Given the description of an element on the screen output the (x, y) to click on. 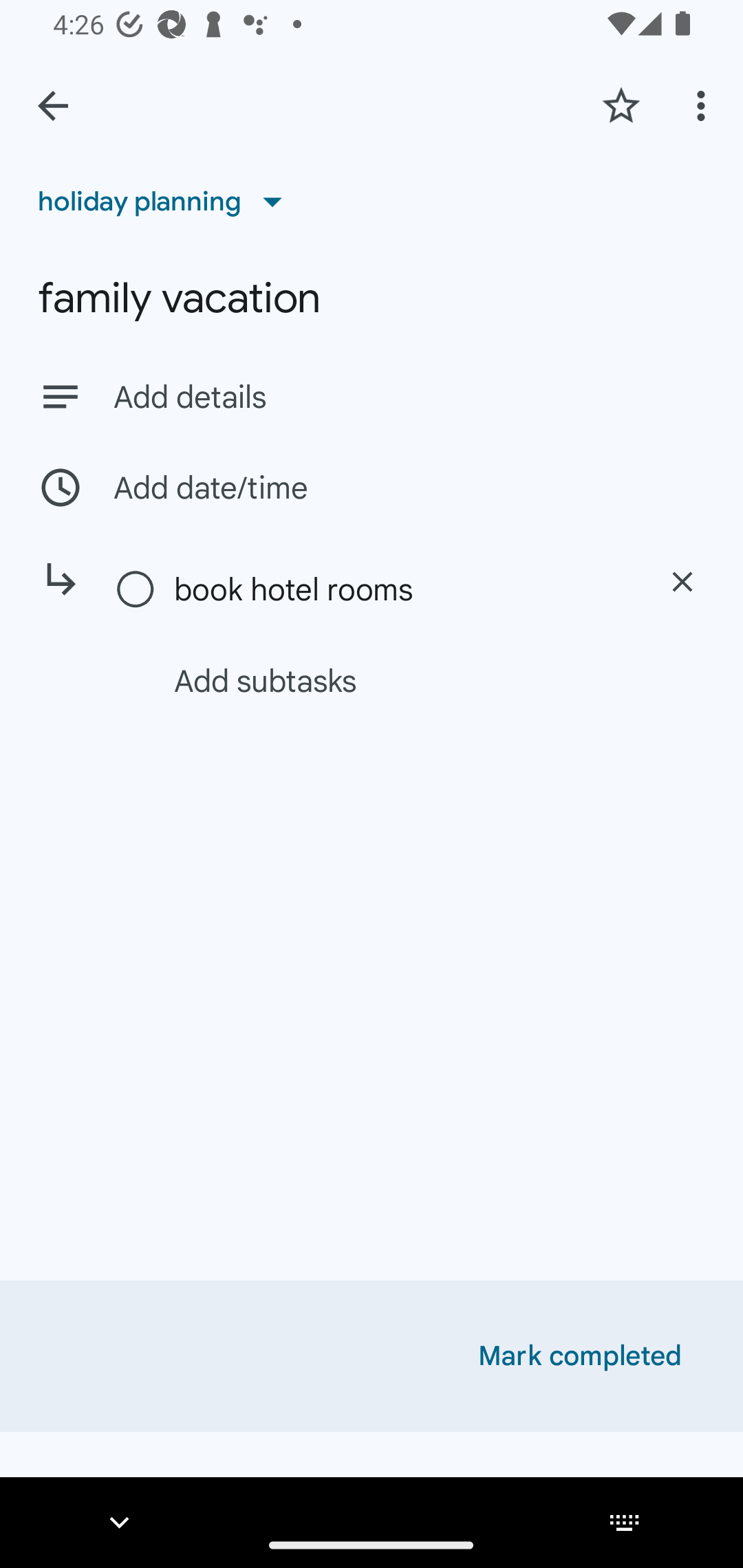
Back (53, 105)
Add star (620, 105)
More options (704, 105)
family vacation (371, 298)
Add details (371, 396)
Add details (409, 397)
Add date/time (371, 487)
book hotel rooms (401, 589)
Delete subtask (682, 581)
Mark as complete (136, 590)
Add subtasks (394, 680)
Mark completed (580, 1355)
